Given the description of an element on the screen output the (x, y) to click on. 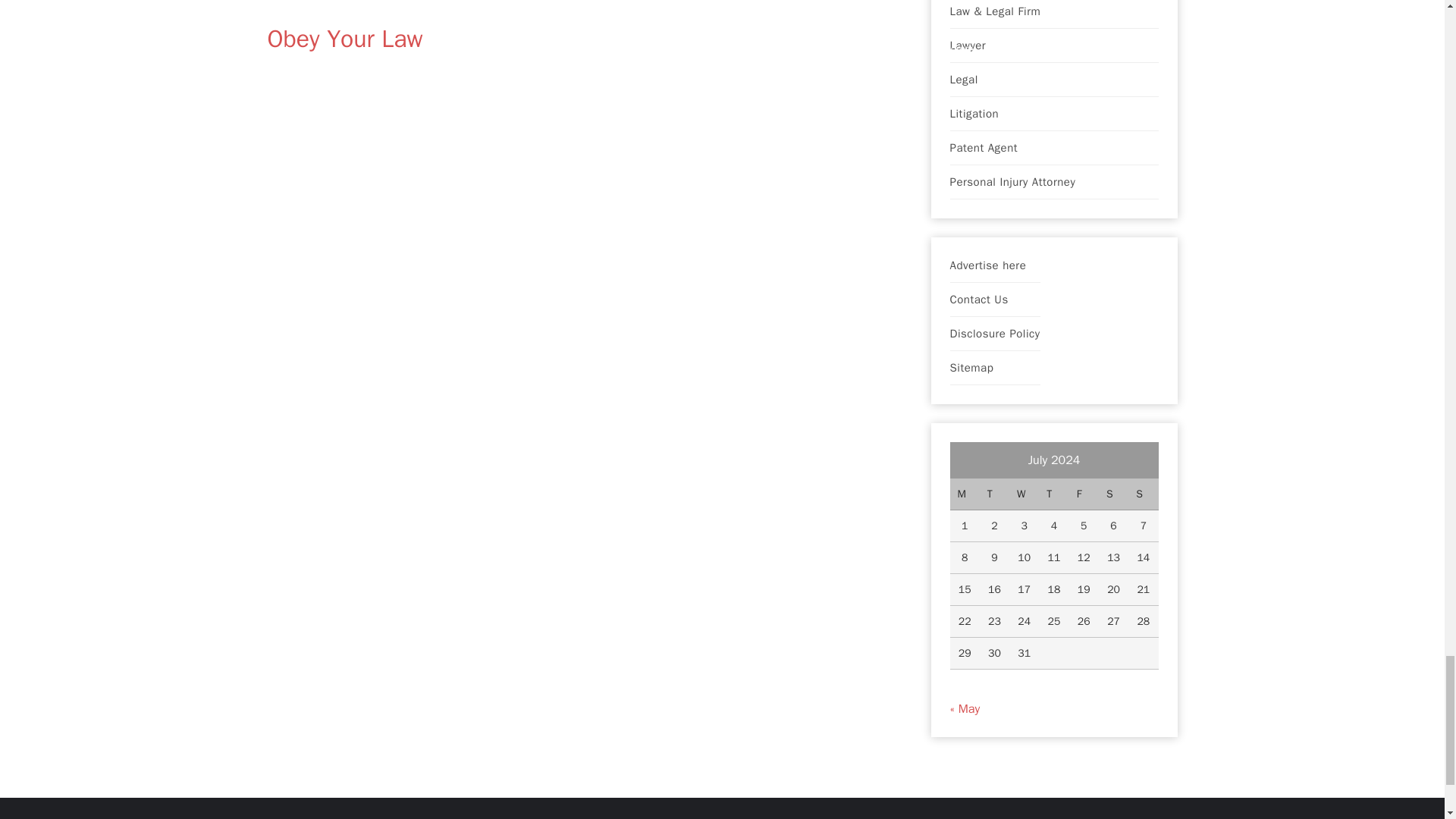
Monday (963, 494)
Sunday (1142, 494)
Tuesday (994, 494)
Thursday (1053, 494)
Friday (1083, 494)
Saturday (1113, 494)
Wednesday (1024, 494)
